Given the description of an element on the screen output the (x, y) to click on. 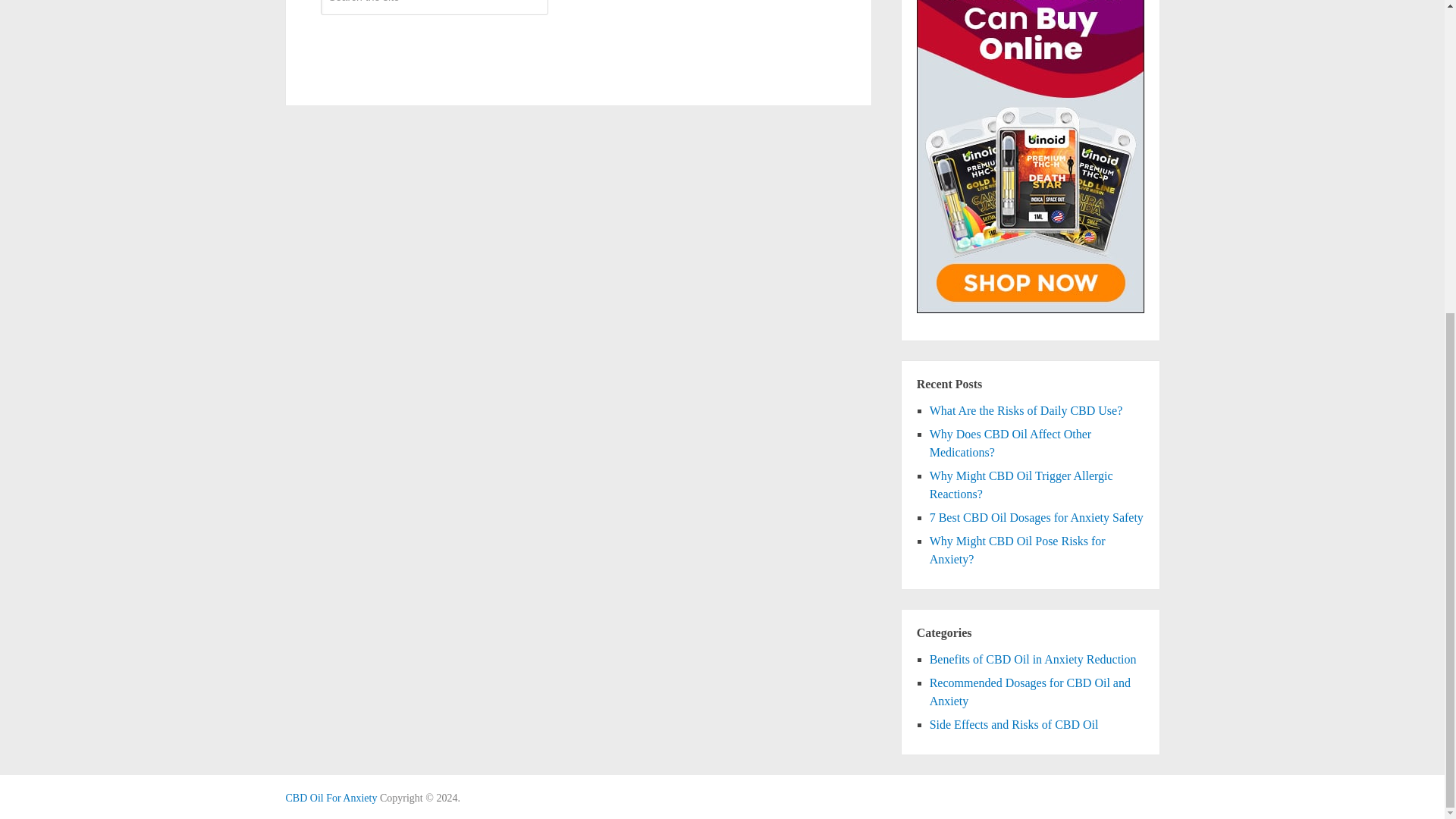
Search (433, 40)
What Are the Risks of Daily CBD Use? (1026, 410)
Side Effects and Risks of CBD Oil (1014, 724)
Recommended Dosages for CBD Oil and Anxiety (1030, 691)
Why Might CBD Oil Trigger Allergic Reactions? (1021, 484)
Why Might CBD Oil Pose Risks for Anxiety? (1017, 549)
7 Best CBD Oil Dosages for Anxiety Safety (1036, 517)
Why Does CBD Oil Affect Other Medications? (1010, 442)
Benefits of CBD Oil in Anxiety Reduction (1033, 658)
CBD Oil For Anxiety (331, 797)
